Given the description of an element on the screen output the (x, y) to click on. 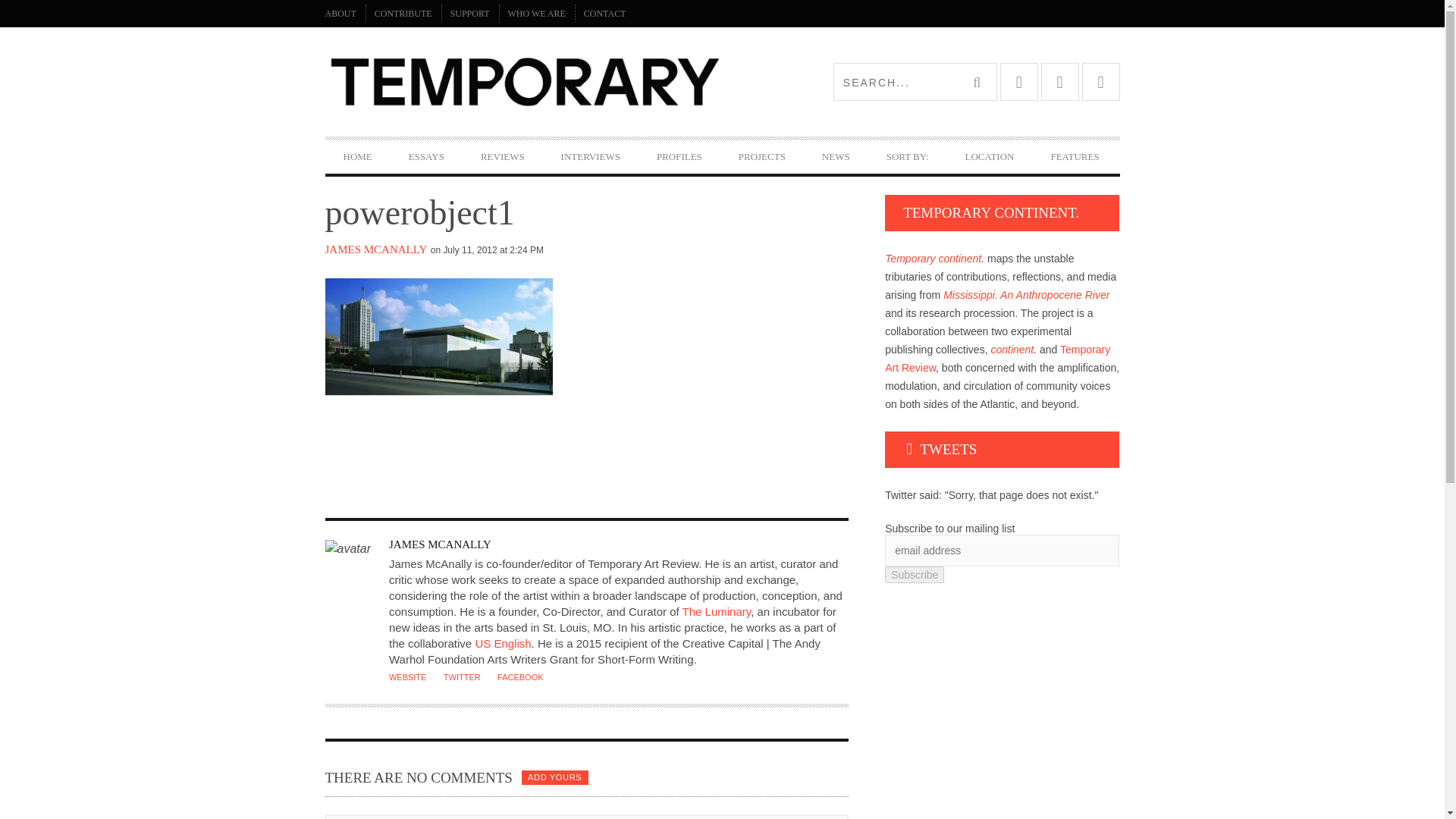
Temporary Art Review (523, 81)
Posts by James McAnally (440, 544)
Posts by James McAnally (375, 249)
Subscribe (914, 574)
